Given the description of an element on the screen output the (x, y) to click on. 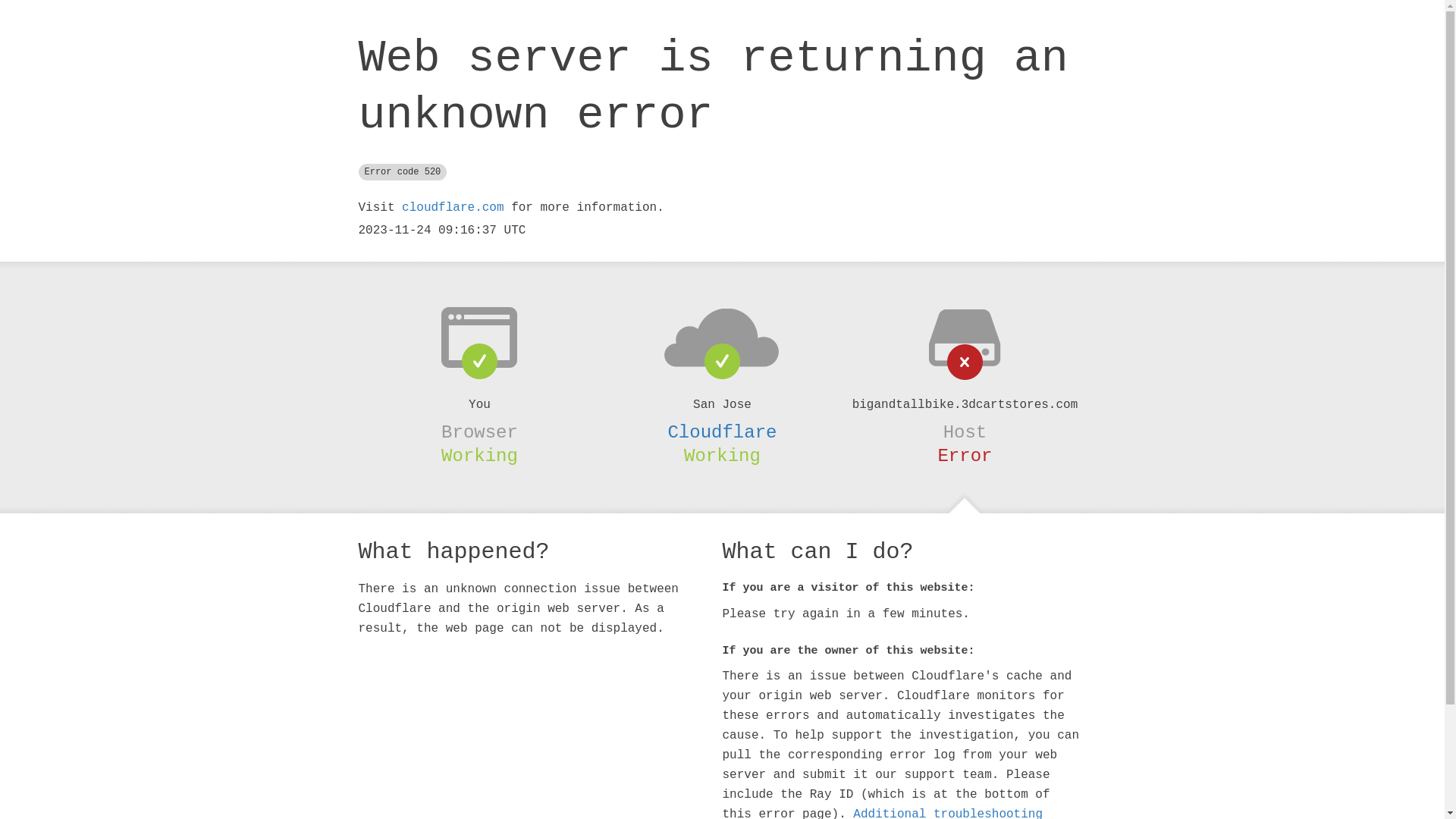
cloudflare.com Element type: text (452, 207)
Cloudflare Element type: text (721, 432)
